Given the description of an element on the screen output the (x, y) to click on. 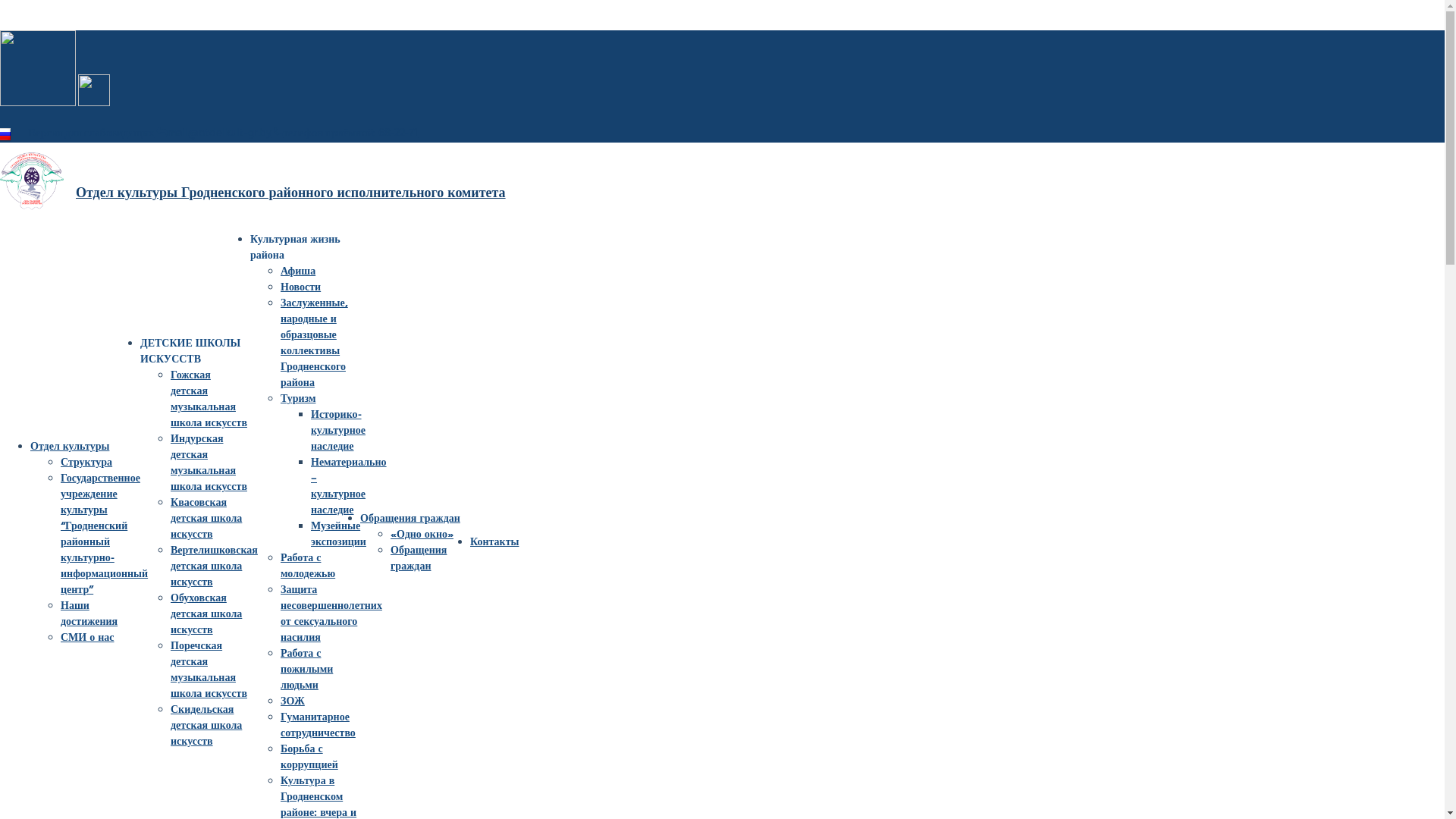
mail@otdelkult-gr.by Element type: text (213, 132)
